Given the description of an element on the screen output the (x, y) to click on. 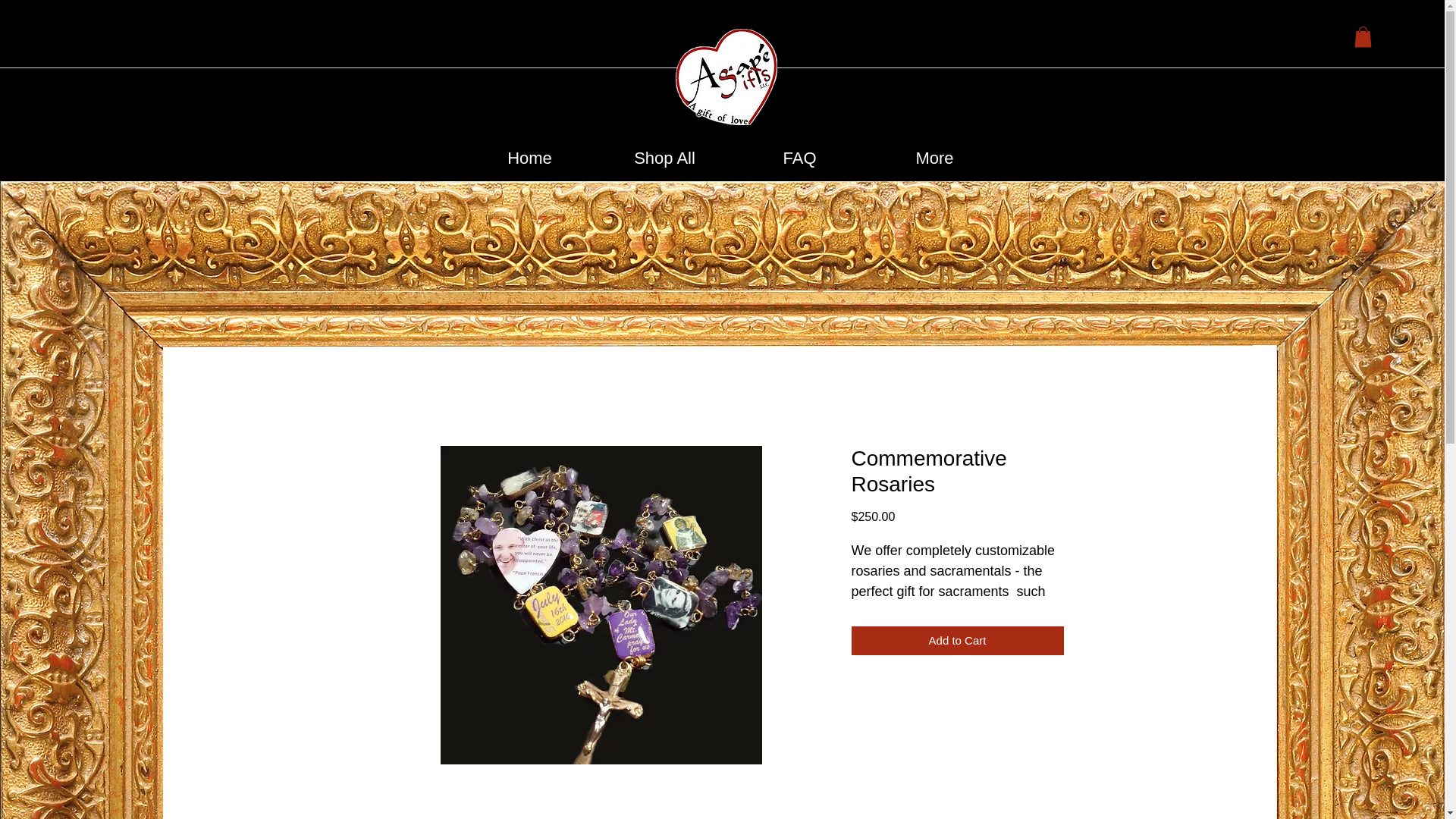
Home (529, 158)
FAQ (799, 158)
Shop All (664, 158)
Add to Cart (956, 641)
